Given the description of an element on the screen output the (x, y) to click on. 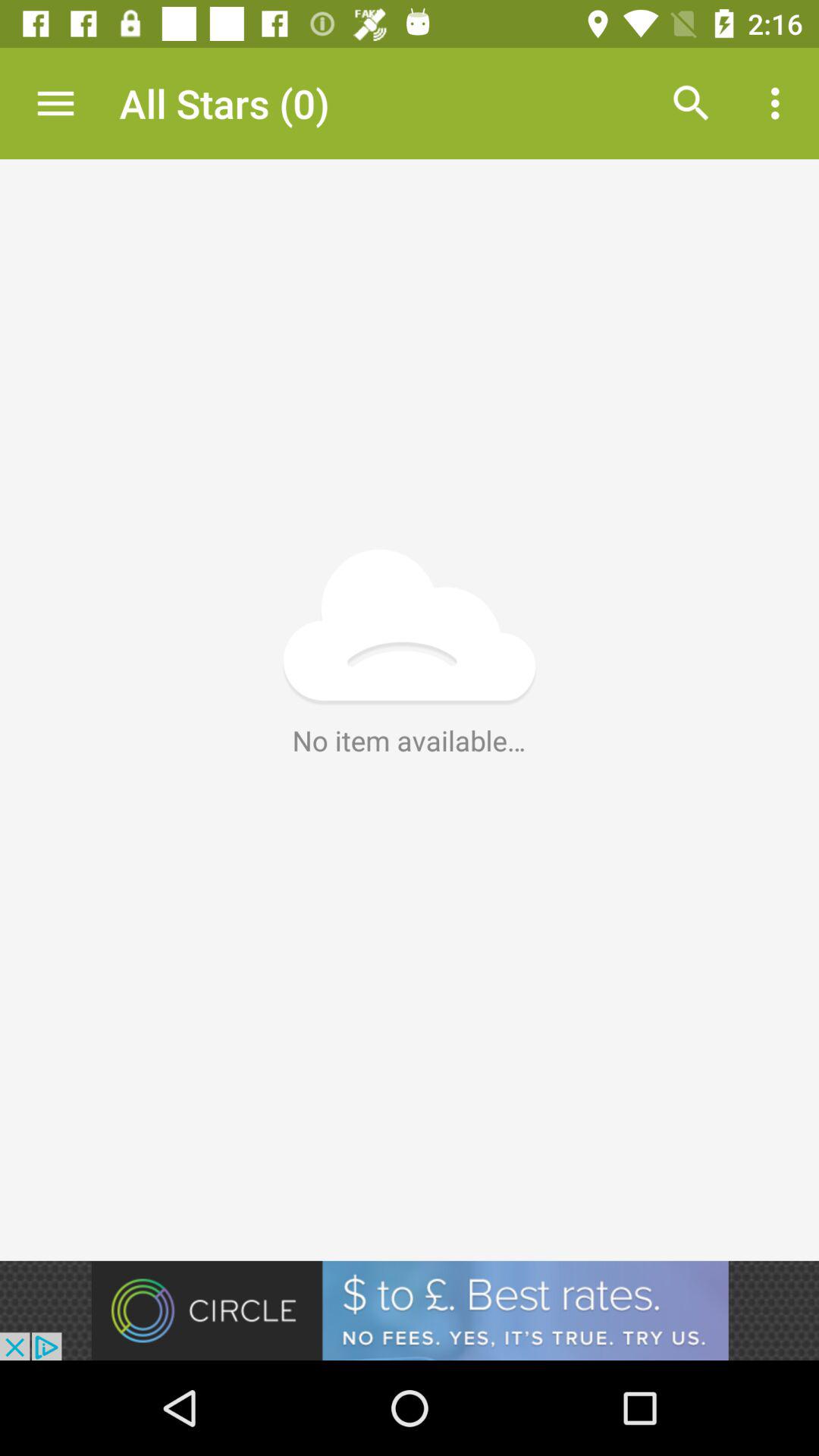
open advertisement (409, 1310)
